Given the description of an element on the screen output the (x, y) to click on. 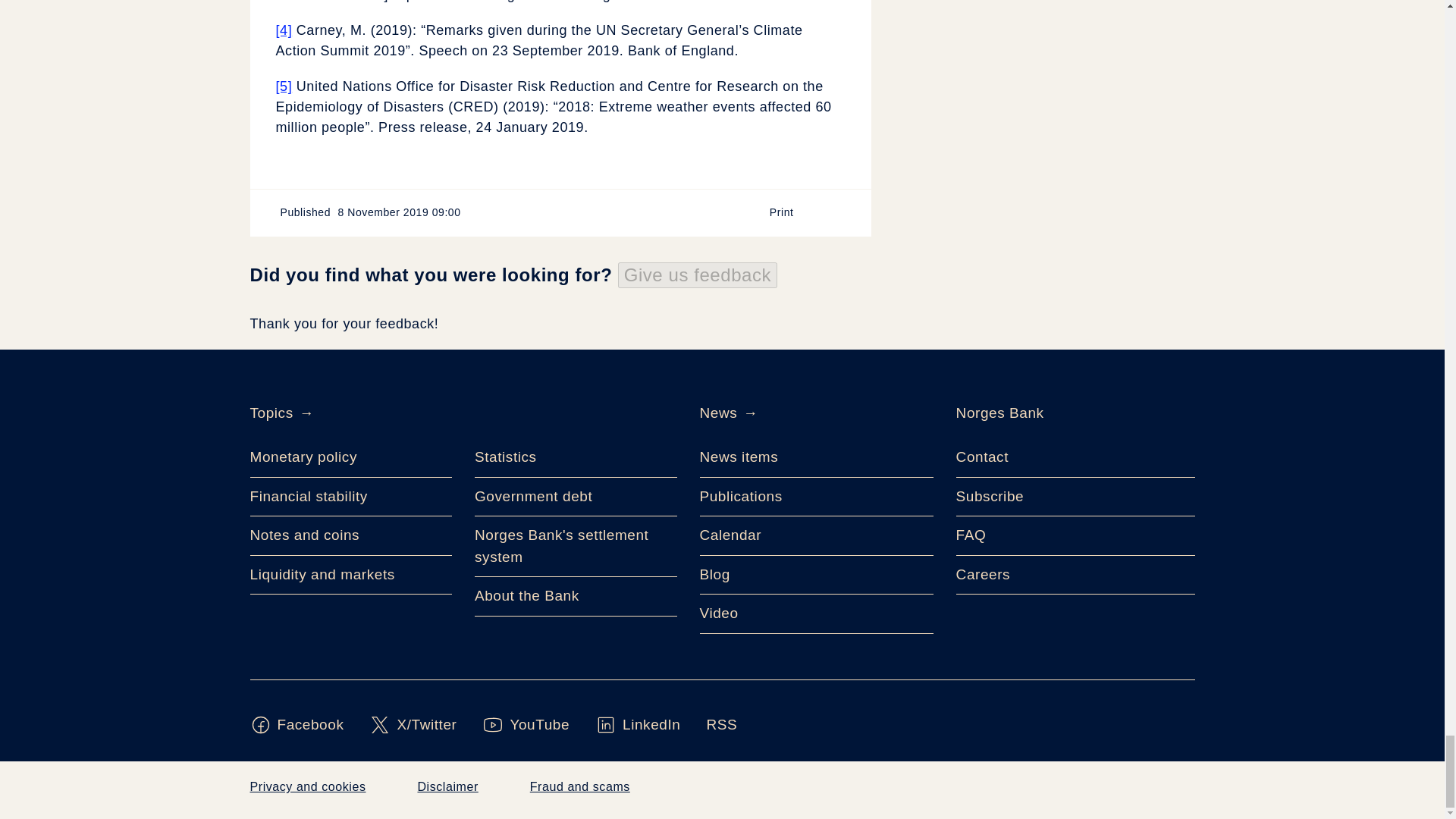
Print (788, 212)
Monetary policy (351, 457)
Norges Bank's settlement system (575, 546)
Notes and coins (351, 536)
Statistics (575, 457)
Financial stability (351, 496)
Topics (272, 413)
About the Bank (575, 596)
News (717, 413)
Liquidity and markets (351, 575)
